Given the description of an element on the screen output the (x, y) to click on. 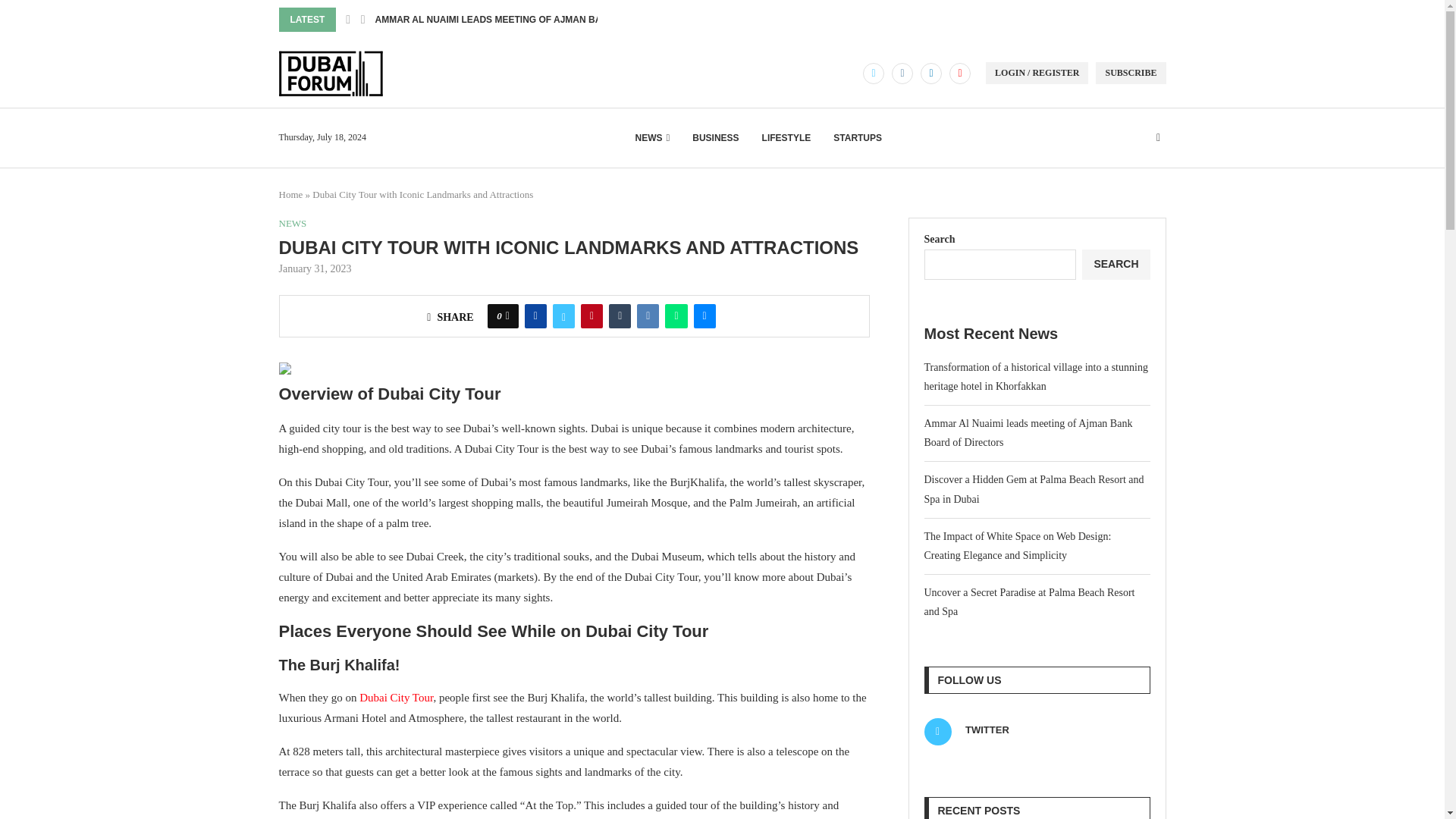
NEWS (651, 137)
LIFESTYLE (785, 137)
AMMAR AL NUAIMI LEADS MEETING OF AJMAN BANK... (497, 19)
Like (507, 315)
BUSINESS (715, 137)
SUBSCRIBE (1131, 73)
STARTUPS (857, 137)
